Given the description of an element on the screen output the (x, y) to click on. 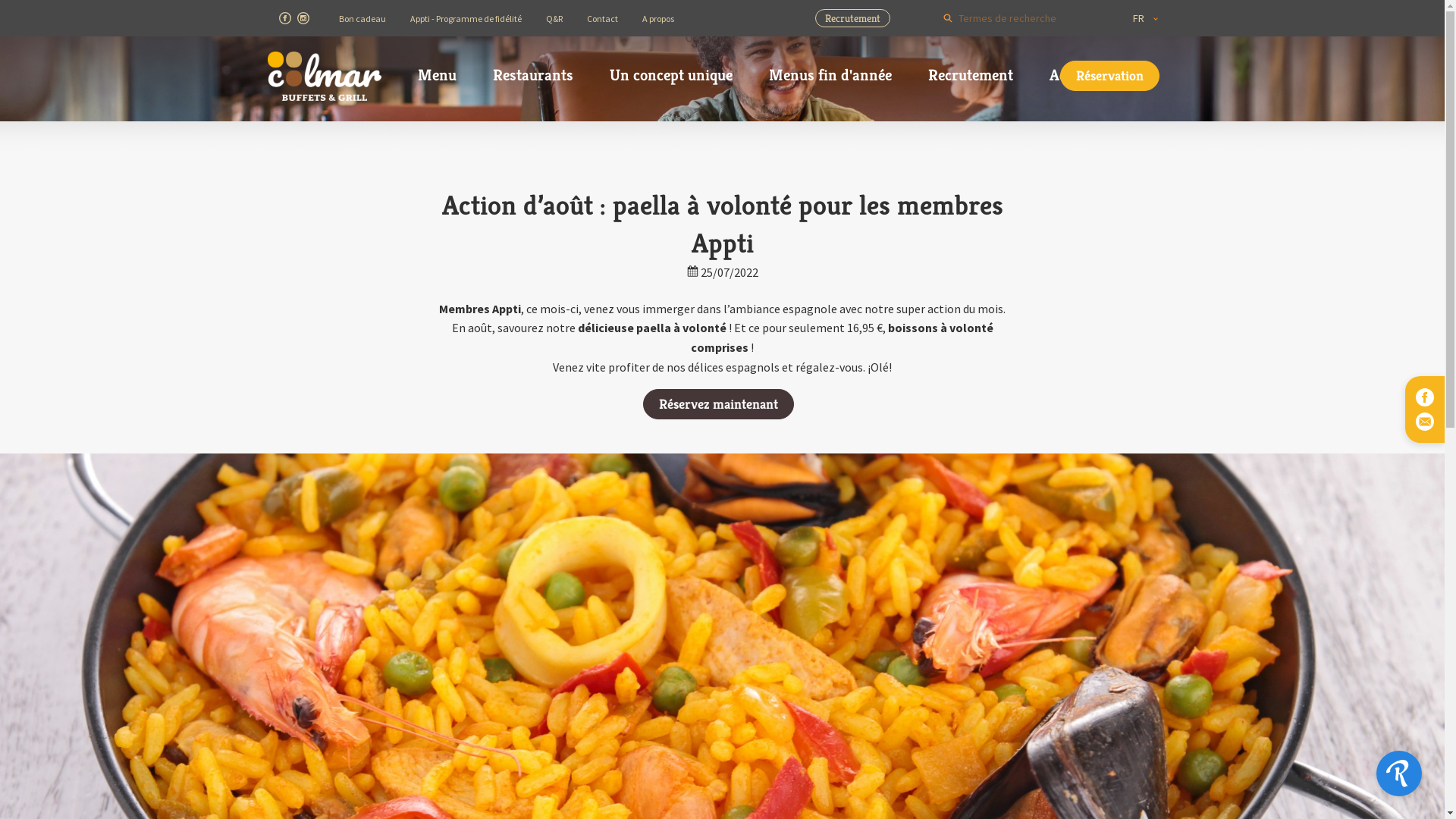
Q&R Element type: text (554, 18)
Colmar Element type: text (323, 75)
Menu Element type: text (436, 74)
A propos Element type: text (657, 18)
Contact Element type: text (1424, 421)
Rechercher Element type: text (947, 17)
FR Element type: text (1138, 18)
Recrutement Element type: text (851, 18)
Un concept unique Element type: text (670, 74)
Bon cadeau Element type: text (361, 18)
Contact Element type: text (602, 18)
Restaurants Element type: text (532, 74)
Recrutement Element type: text (970, 74)
Facebook Element type: text (1424, 397)
Aller au contenu principal Element type: text (0, 0)
